Given the description of an element on the screen output the (x, y) to click on. 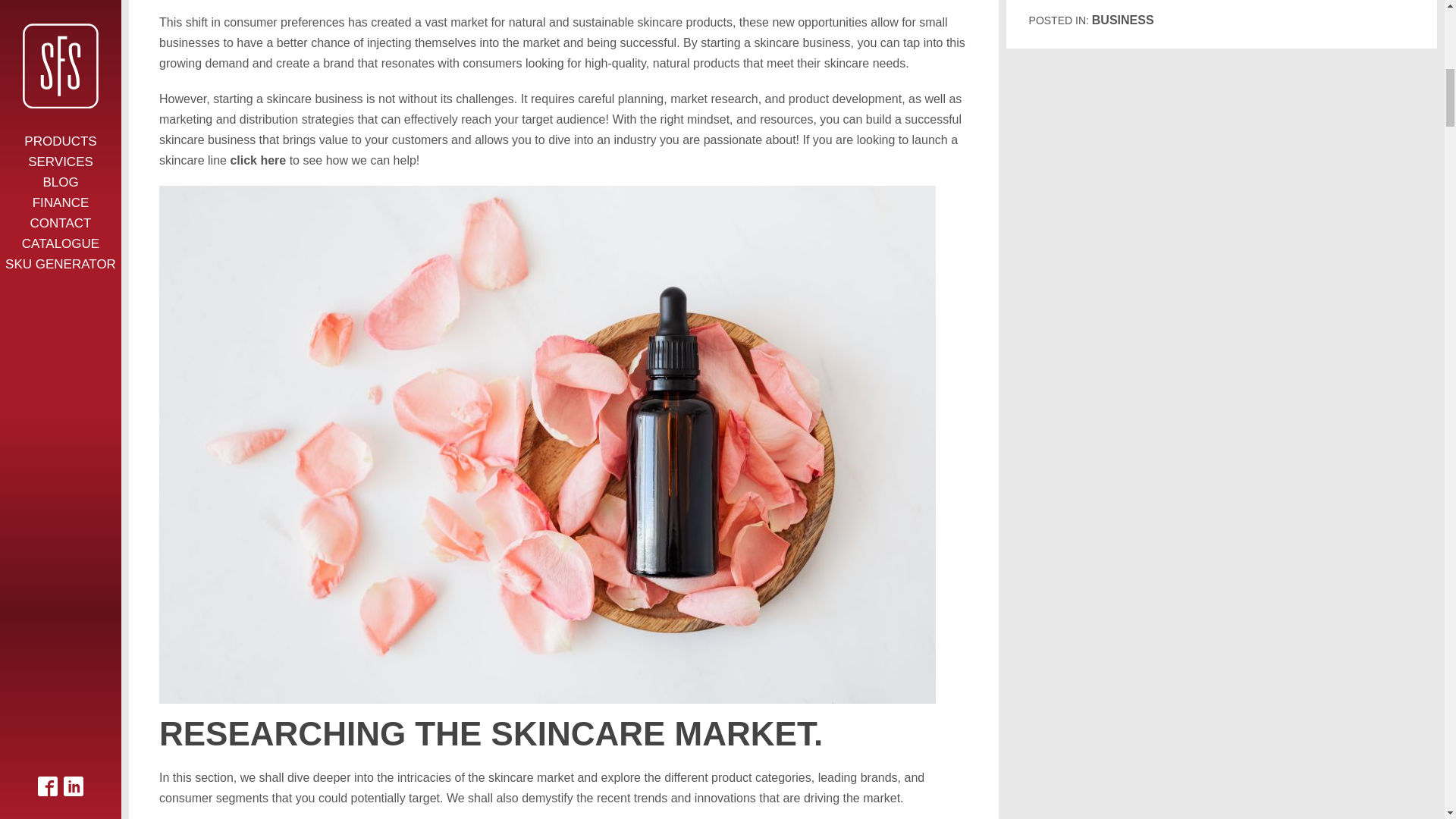
BUSINESS (1123, 19)
